Given the description of an element on the screen output the (x, y) to click on. 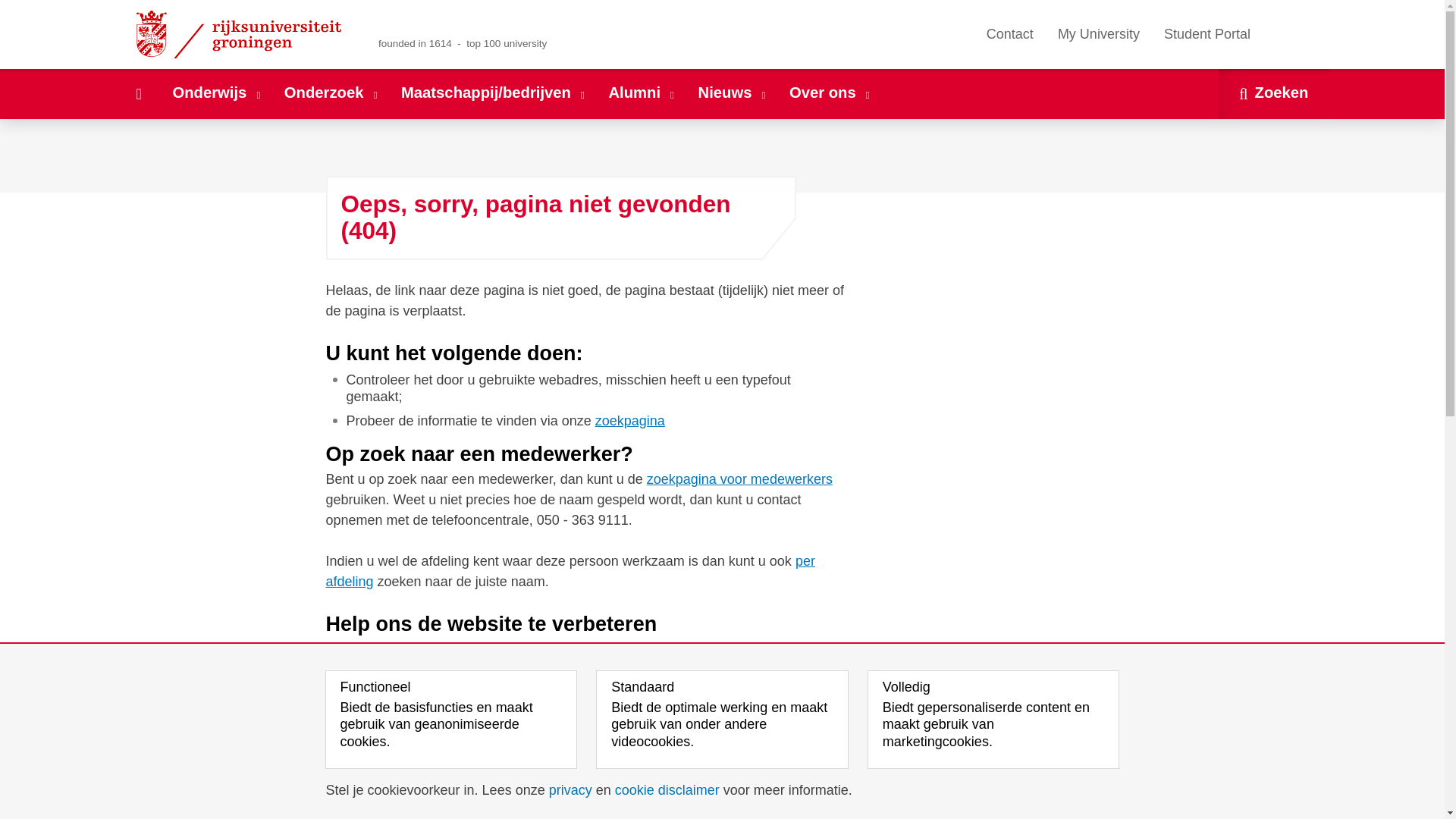
Taal selectie (1286, 34)
Home (138, 93)
Nederlands (1272, 33)
Contact (1009, 34)
Rijksuniversiteit Groningen (241, 34)
Onderwijs (217, 93)
Student Portal (1206, 34)
English (1293, 33)
Onderzoek (331, 93)
